Given the description of an element on the screen output the (x, y) to click on. 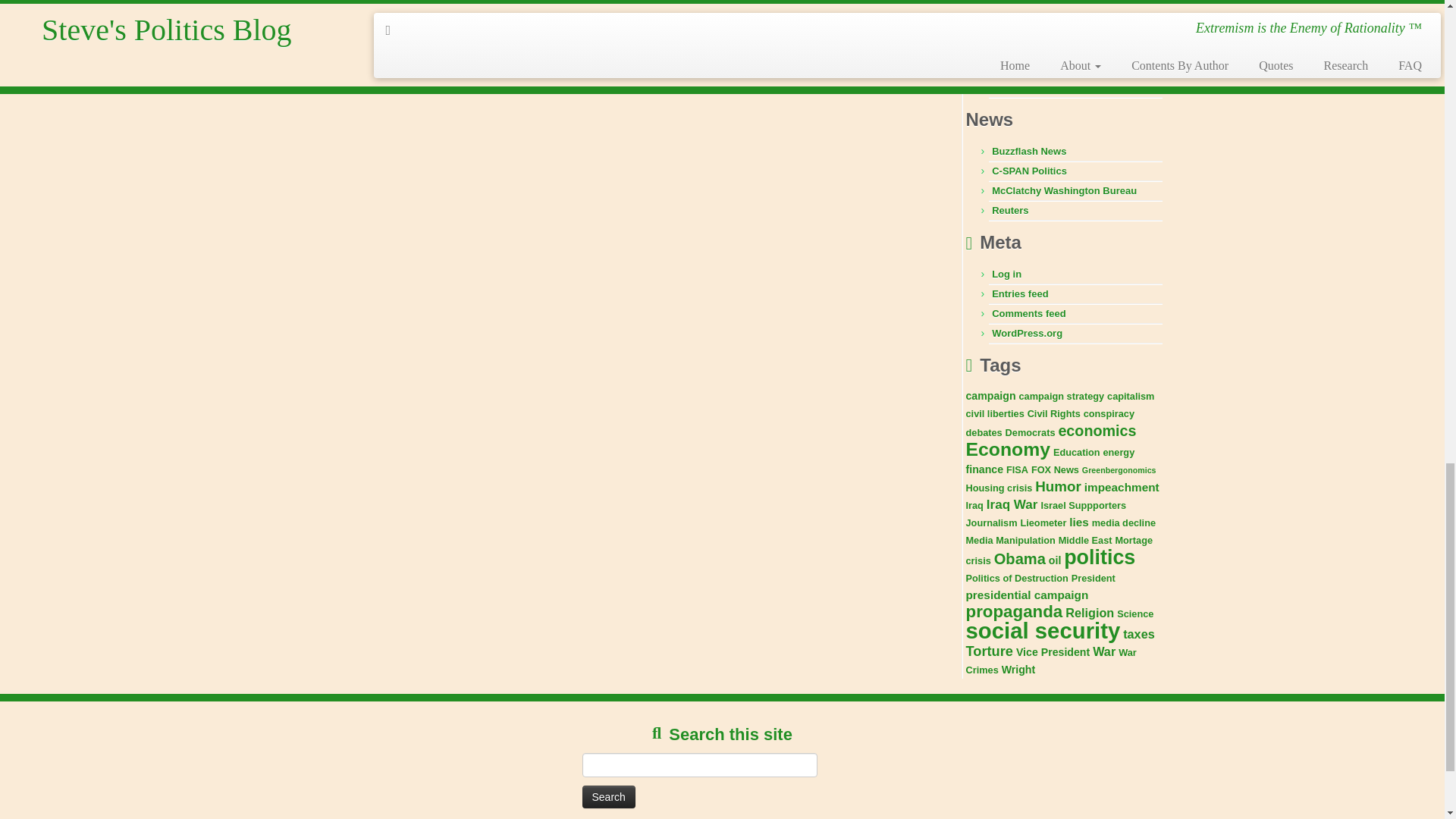
Facebook page of Sturbridge For Bernie Sanders (1063, 23)
Search (608, 796)
